Given the description of an element on the screen output the (x, y) to click on. 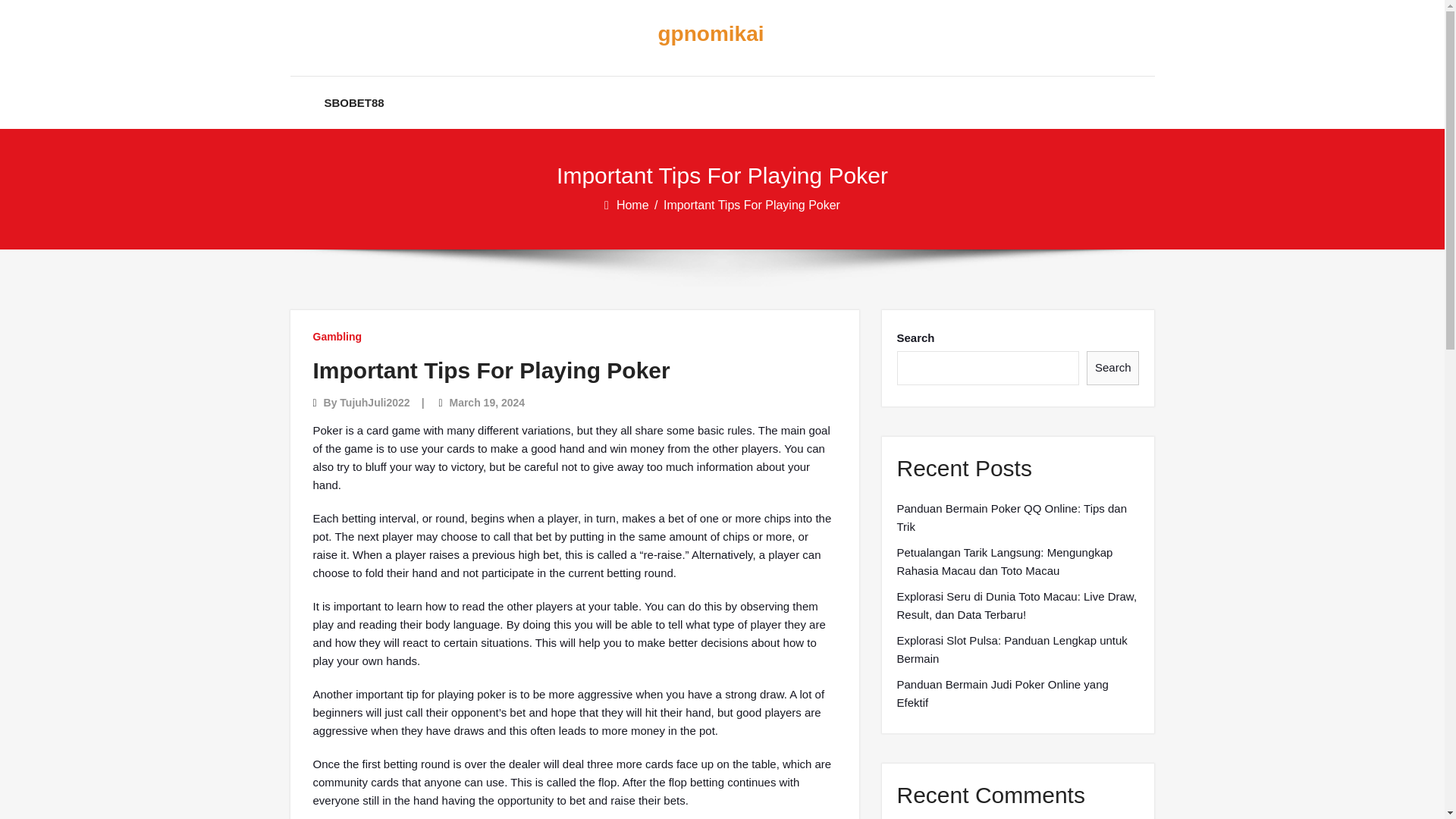
Explorasi Slot Pulsa: Panduan Lengkap untuk Bermain (1017, 649)
Home (632, 205)
gpnomikai (710, 34)
TujuhJuli2022 (374, 402)
SBOBET88 (354, 102)
Gambling (337, 336)
March 19, 2024 (486, 402)
Panduan Bermain Judi Poker Online yang Efektif (1017, 693)
Panduan Bermain Poker QQ Online: Tips dan Trik (1017, 517)
Search (1113, 367)
